Given the description of an element on the screen output the (x, y) to click on. 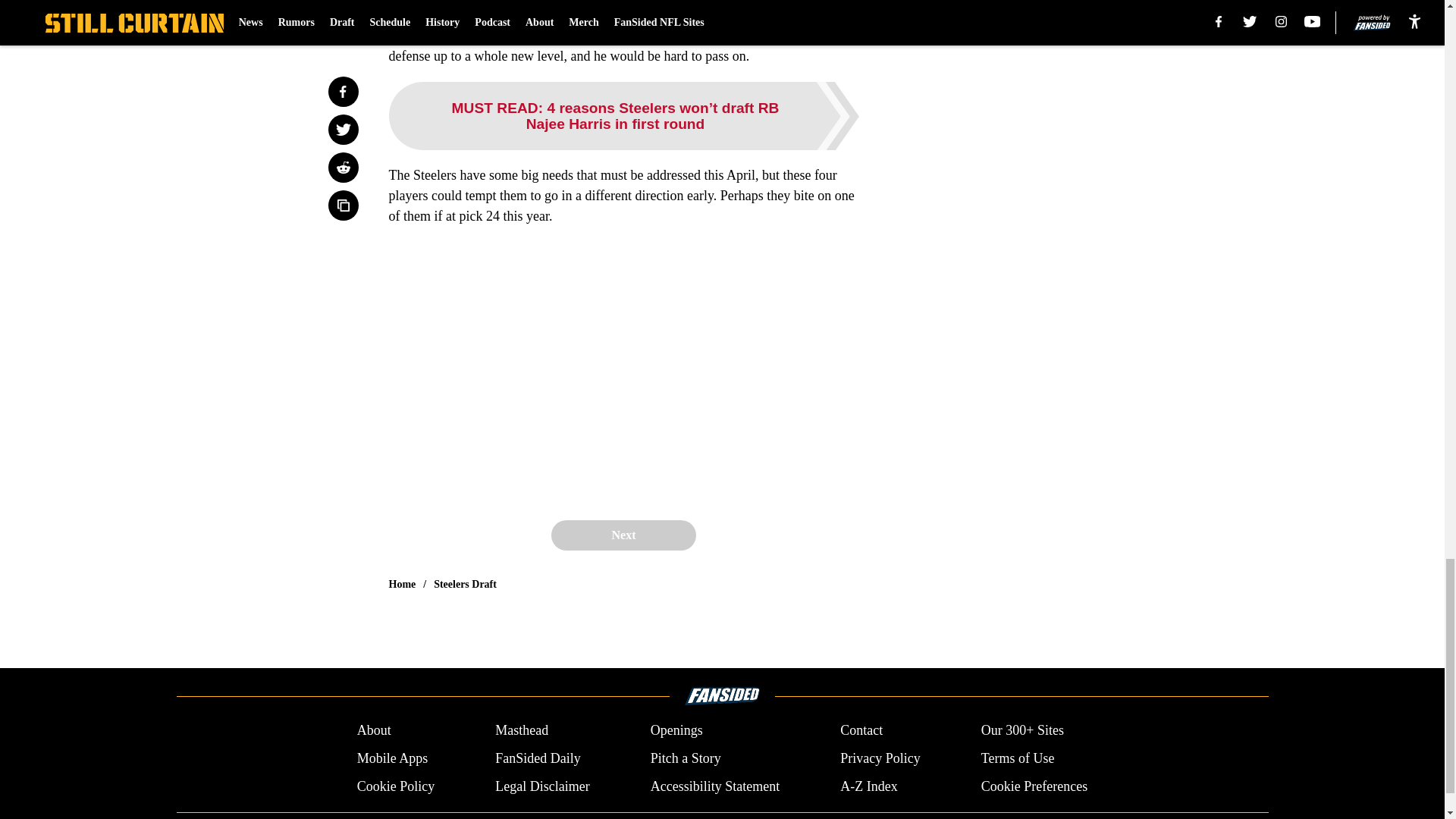
Masthead (521, 730)
Contact (861, 730)
Openings (676, 730)
Steelers Draft (464, 584)
Next (622, 535)
Home (401, 584)
About (373, 730)
